Given the description of an element on the screen output the (x, y) to click on. 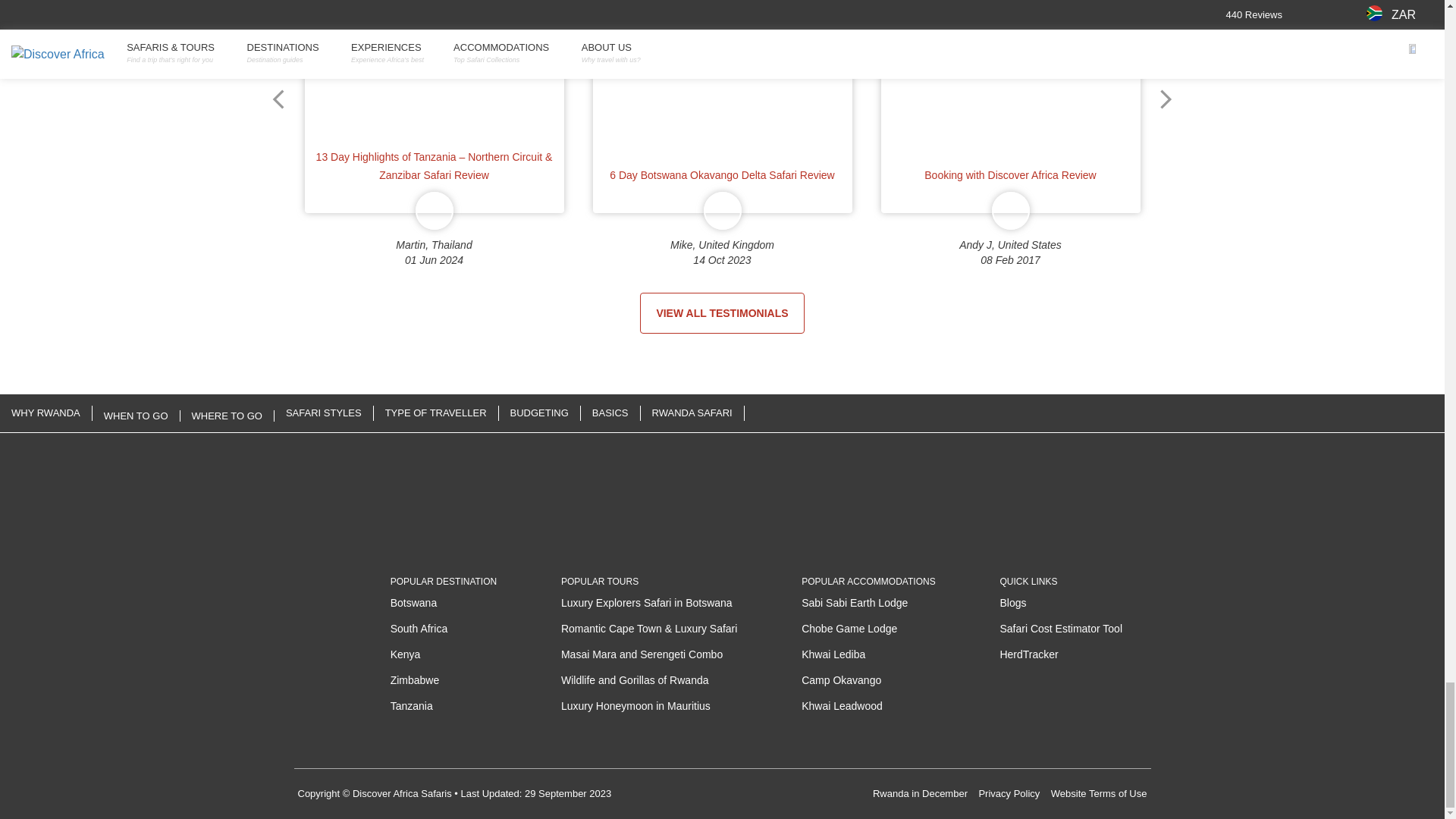
WHEN TO GO (136, 415)
WHERE TO GO (227, 415)
